Given the description of an element on the screen output the (x, y) to click on. 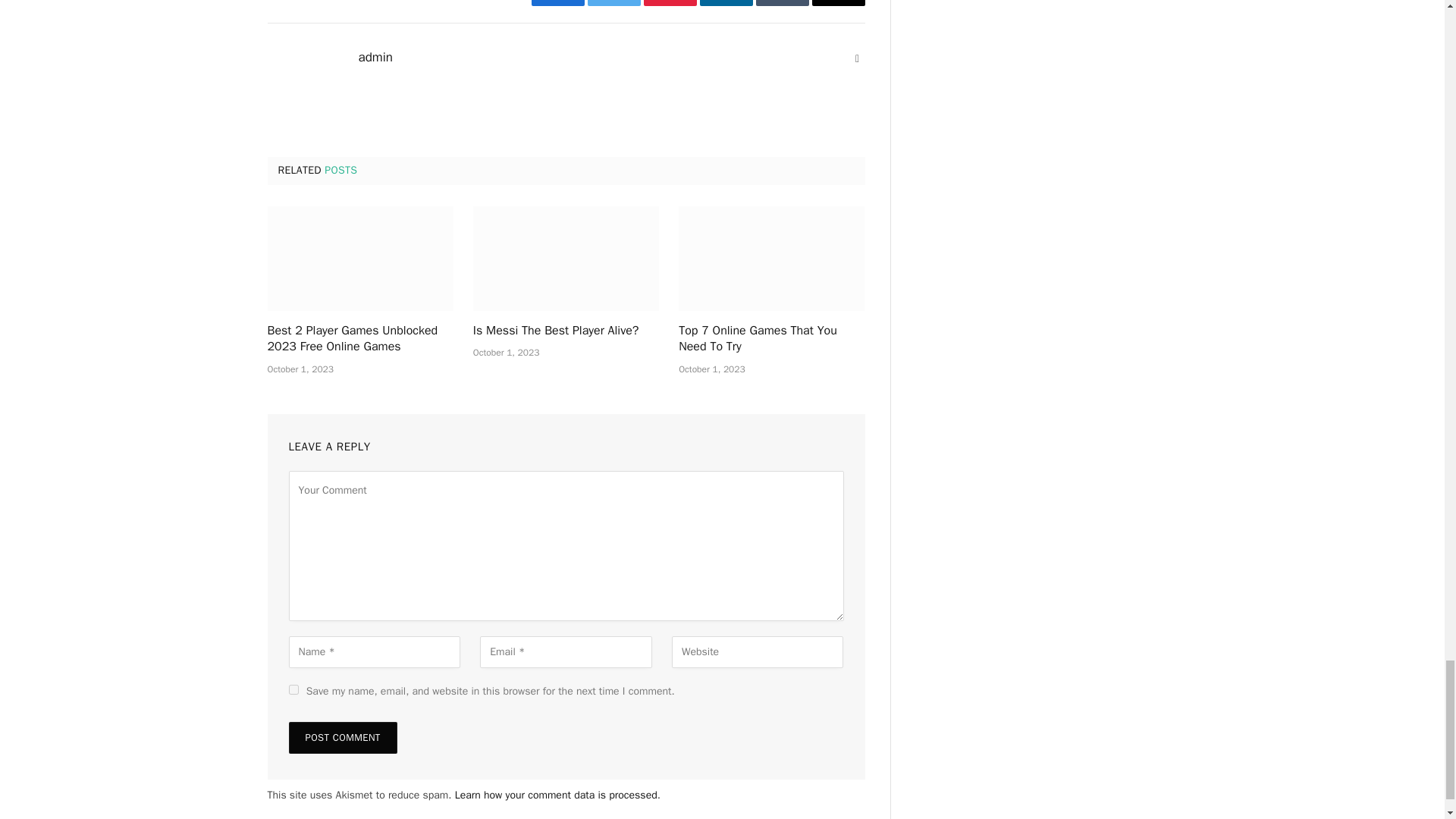
yes (293, 689)
Post Comment (342, 737)
